Given the description of an element on the screen output the (x, y) to click on. 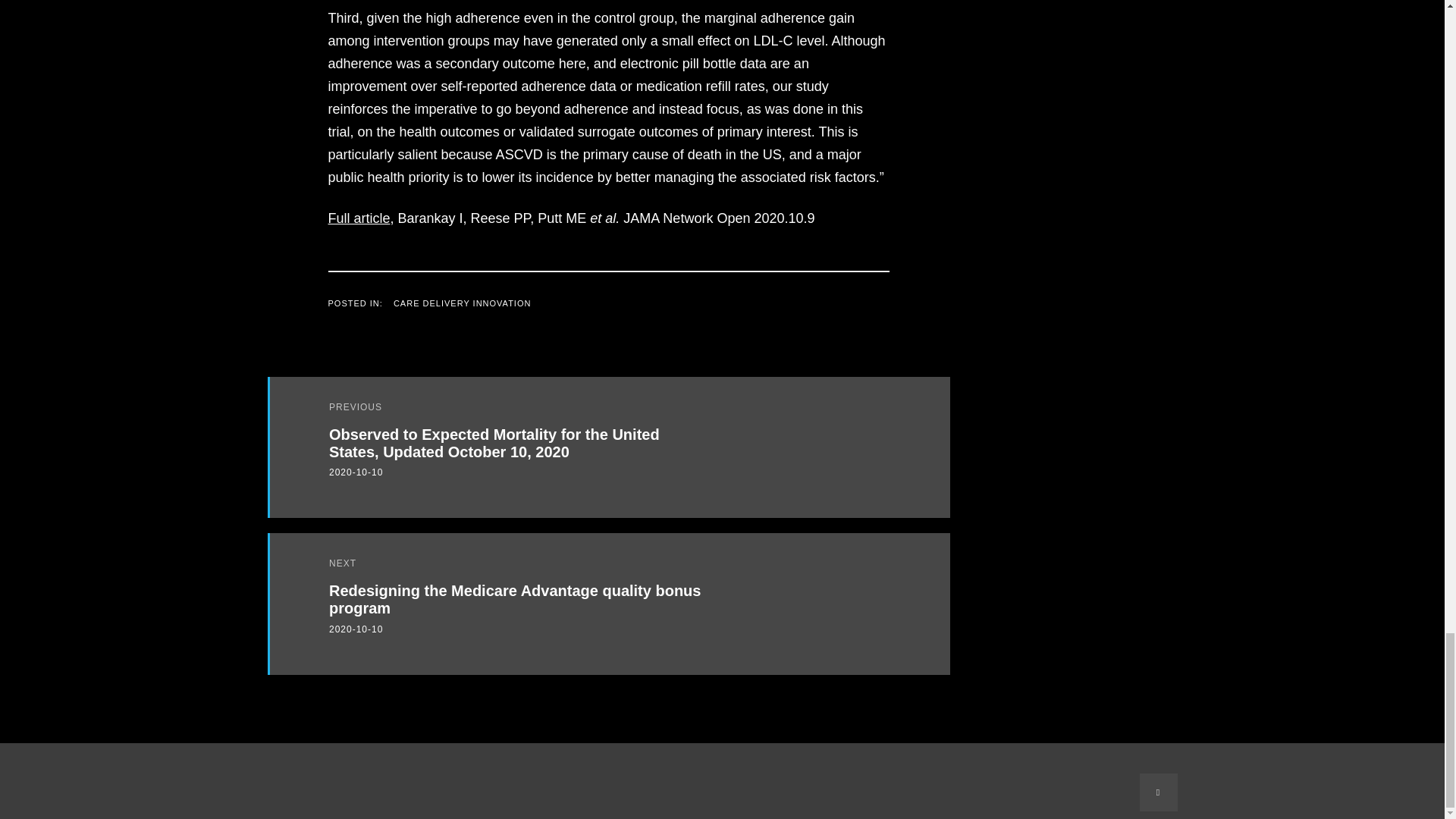
Full article (358, 218)
CARE DELIVERY INNOVATION (461, 303)
Redesigning the Medicare Advantage quality bonus program (514, 599)
BACK TO THE TOP (1157, 792)
